Given the description of an element on the screen output the (x, y) to click on. 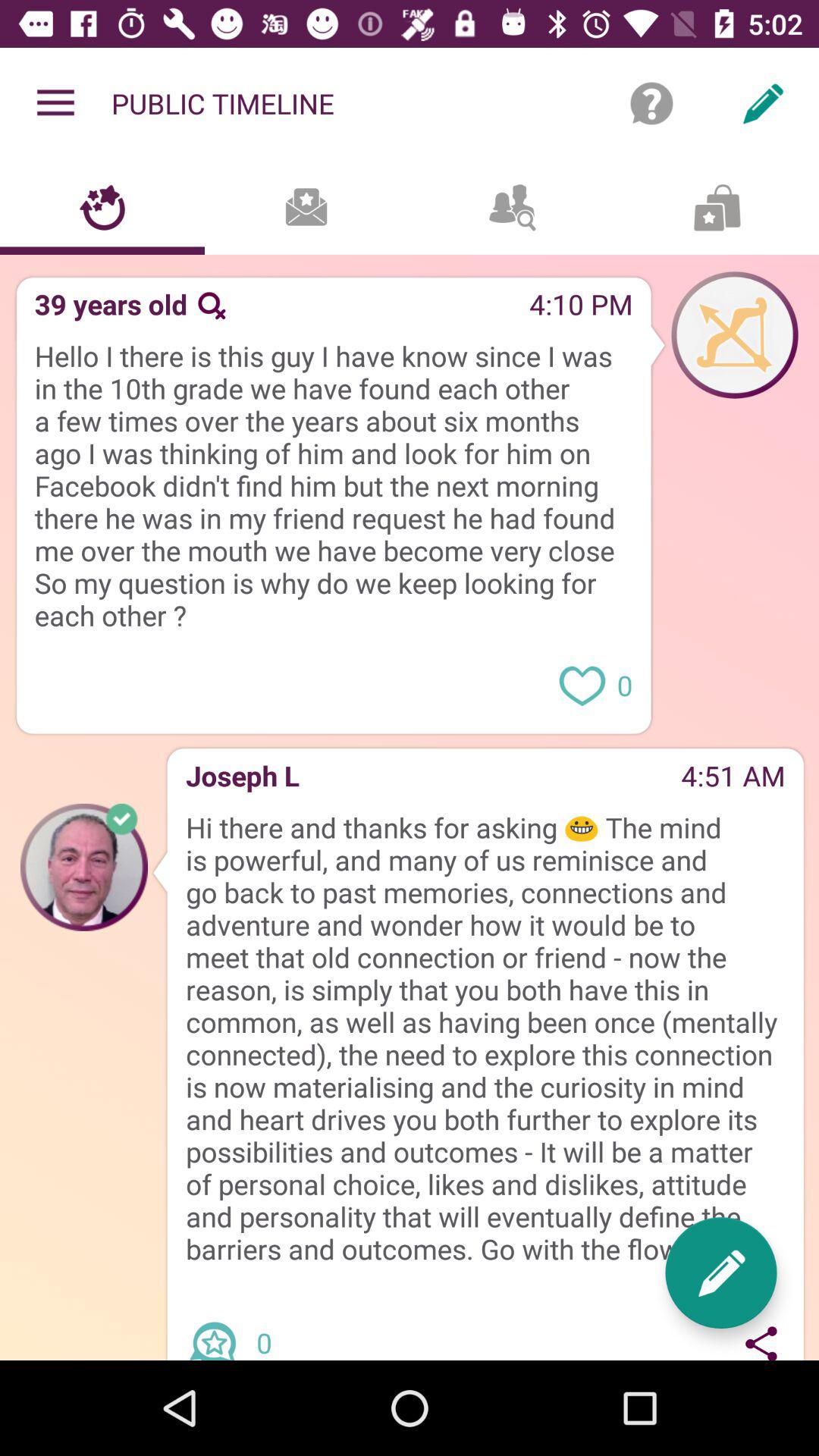
open the icon below the hi there and item (218, 1327)
